Given the description of an element on the screen output the (x, y) to click on. 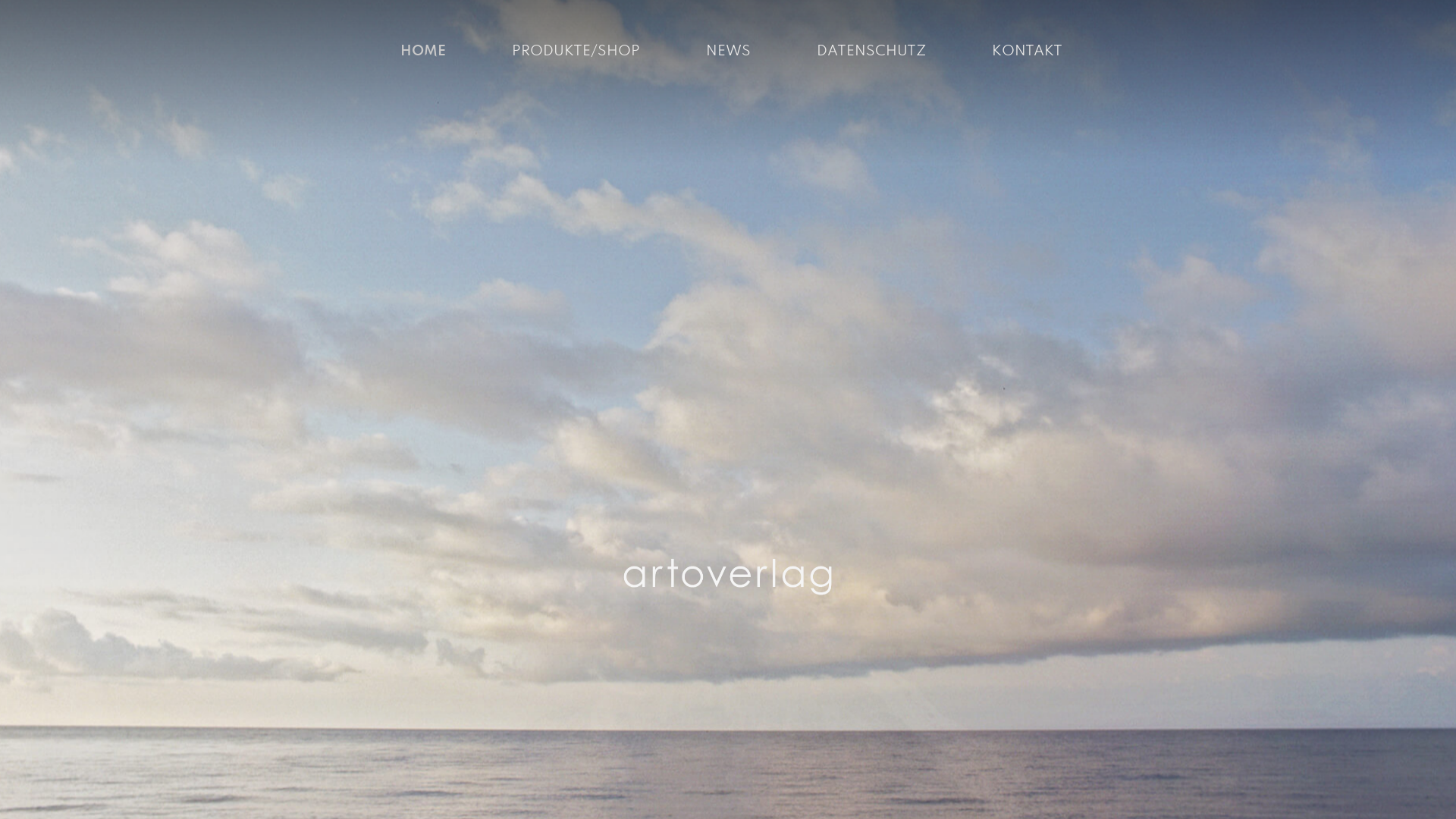
KONTAKT Element type: text (1026, 51)
DATENSCHUTZ Element type: text (870, 51)
PRODUKTE/SHOP Element type: text (575, 51)
NEWS Element type: text (727, 51)
